Given the description of an element on the screen output the (x, y) to click on. 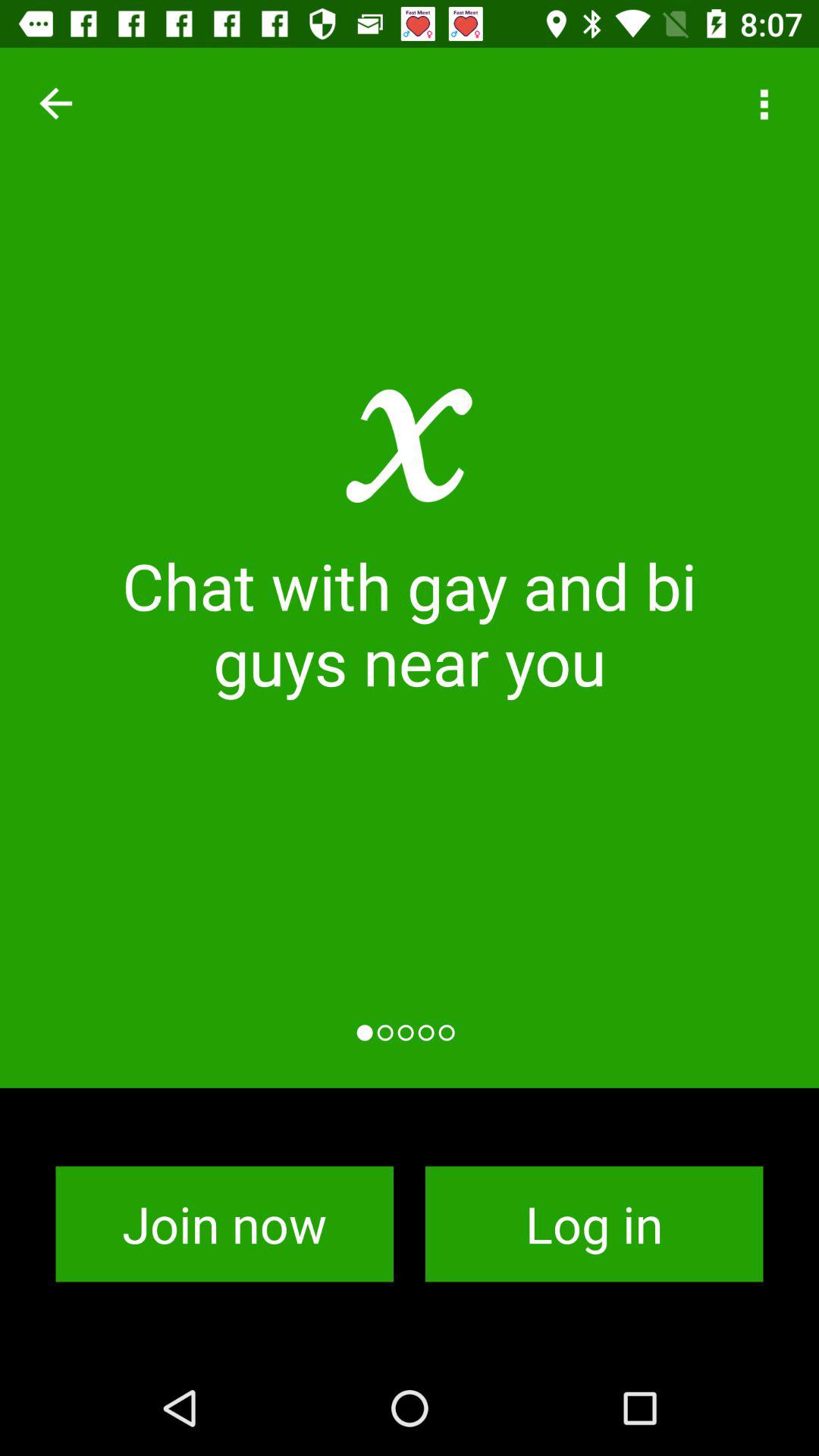
open item at the bottom right corner (594, 1223)
